Given the description of an element on the screen output the (x, y) to click on. 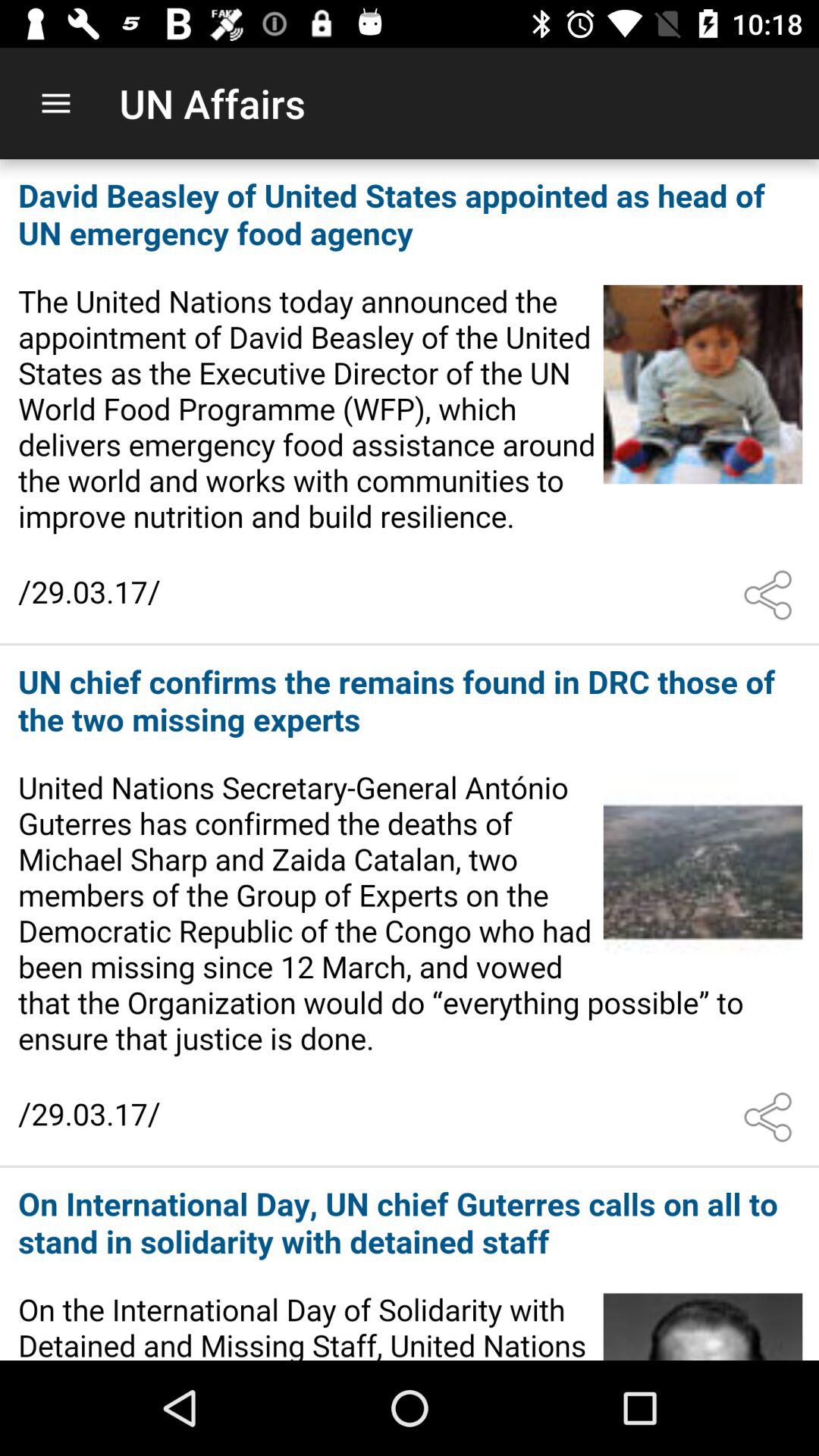
open the article (409, 906)
